Given the description of an element on the screen output the (x, y) to click on. 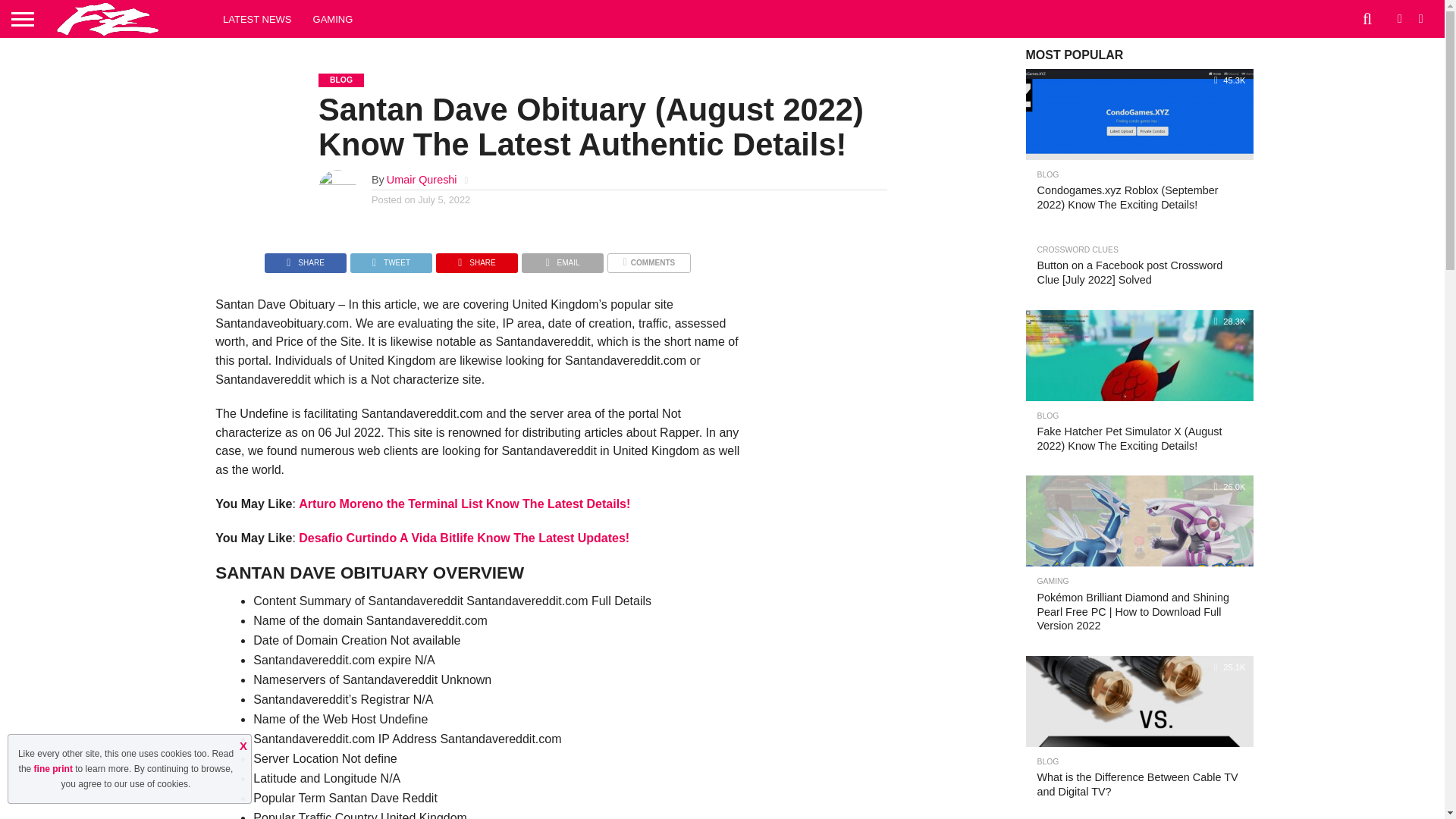
TWEET (390, 258)
Posts by Umair Qureshi (422, 179)
SHARE (305, 258)
GAMING (333, 18)
SHARE (476, 258)
Share on Facebook (305, 258)
Arturo Moreno the Terminal List Know The Latest Details! (464, 503)
LATEST NEWS (257, 18)
COMMENTS (648, 258)
EMAIL (562, 258)
